Given the description of an element on the screen output the (x, y) to click on. 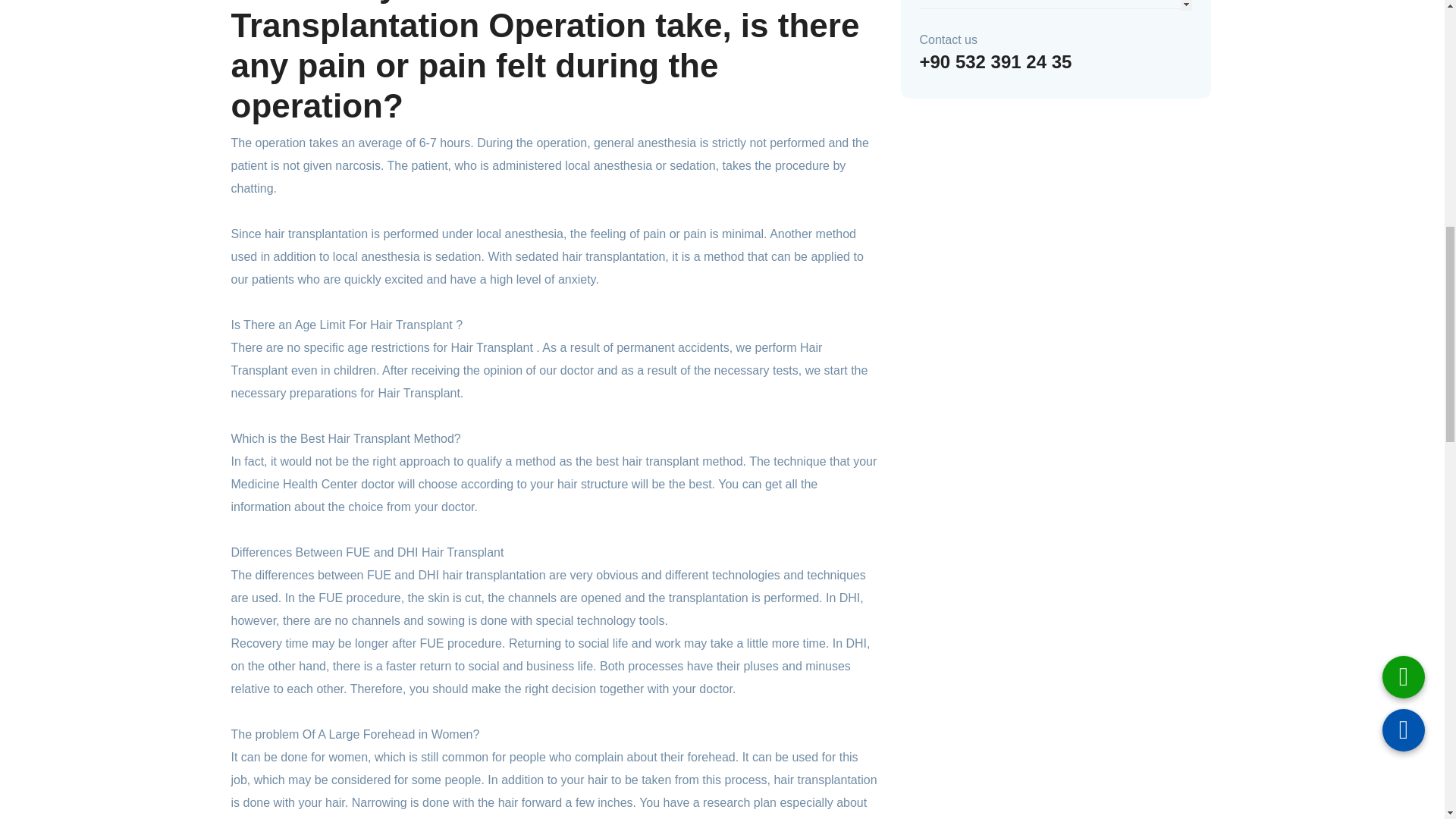
Who can't donate their kidneys? (1004, 26)
Why do babies cry? (972, 0)
Why do babies cry? (972, 0)
Who can't donate their kidneys? (1004, 26)
